Given the description of an element on the screen output the (x, y) to click on. 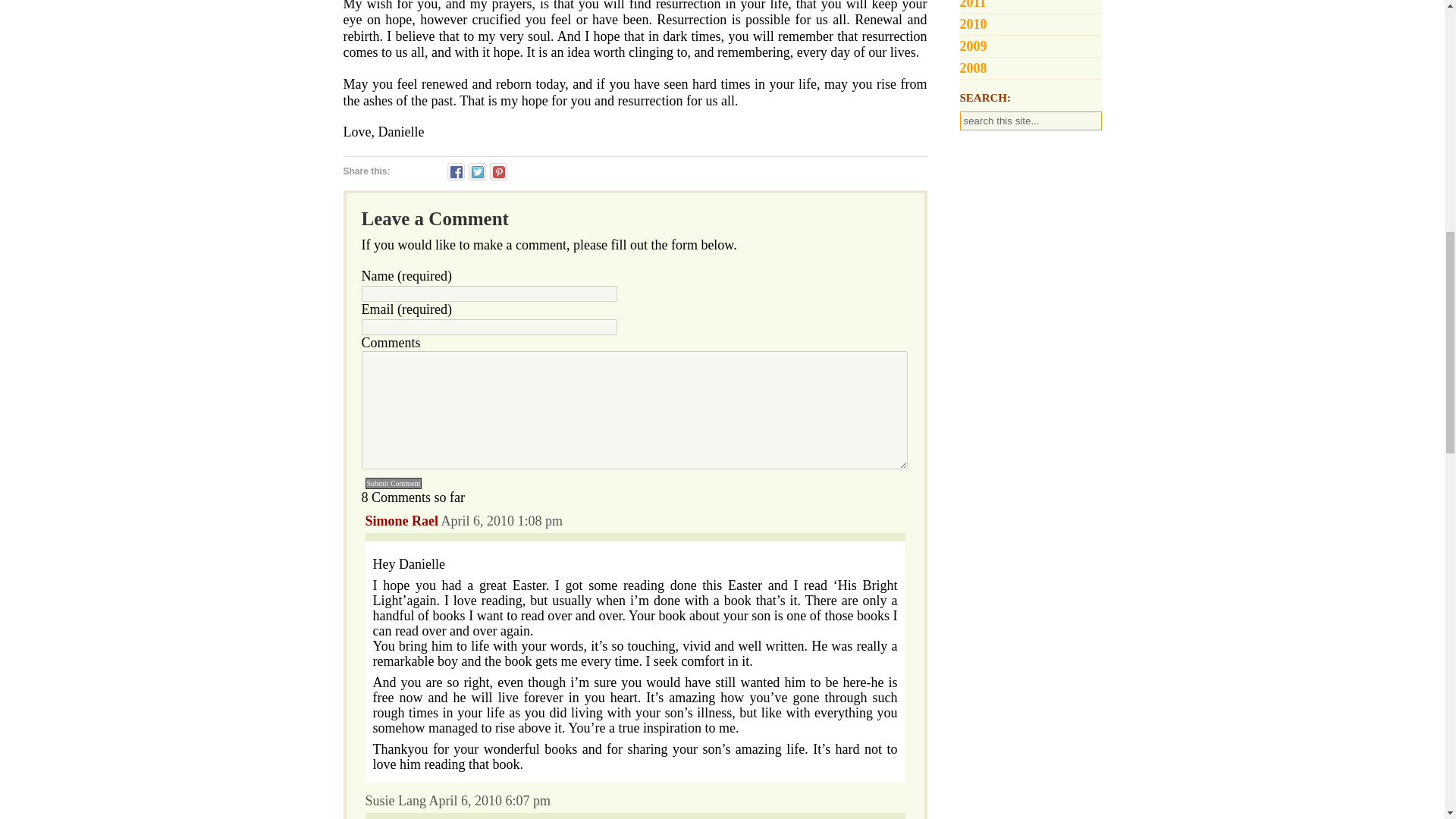
Click to share on Twitter (477, 171)
Share on Facebook (455, 171)
search this site... (1030, 120)
Click to share on Pinterest (497, 171)
Submit Comment (393, 482)
